Given the description of an element on the screen output the (x, y) to click on. 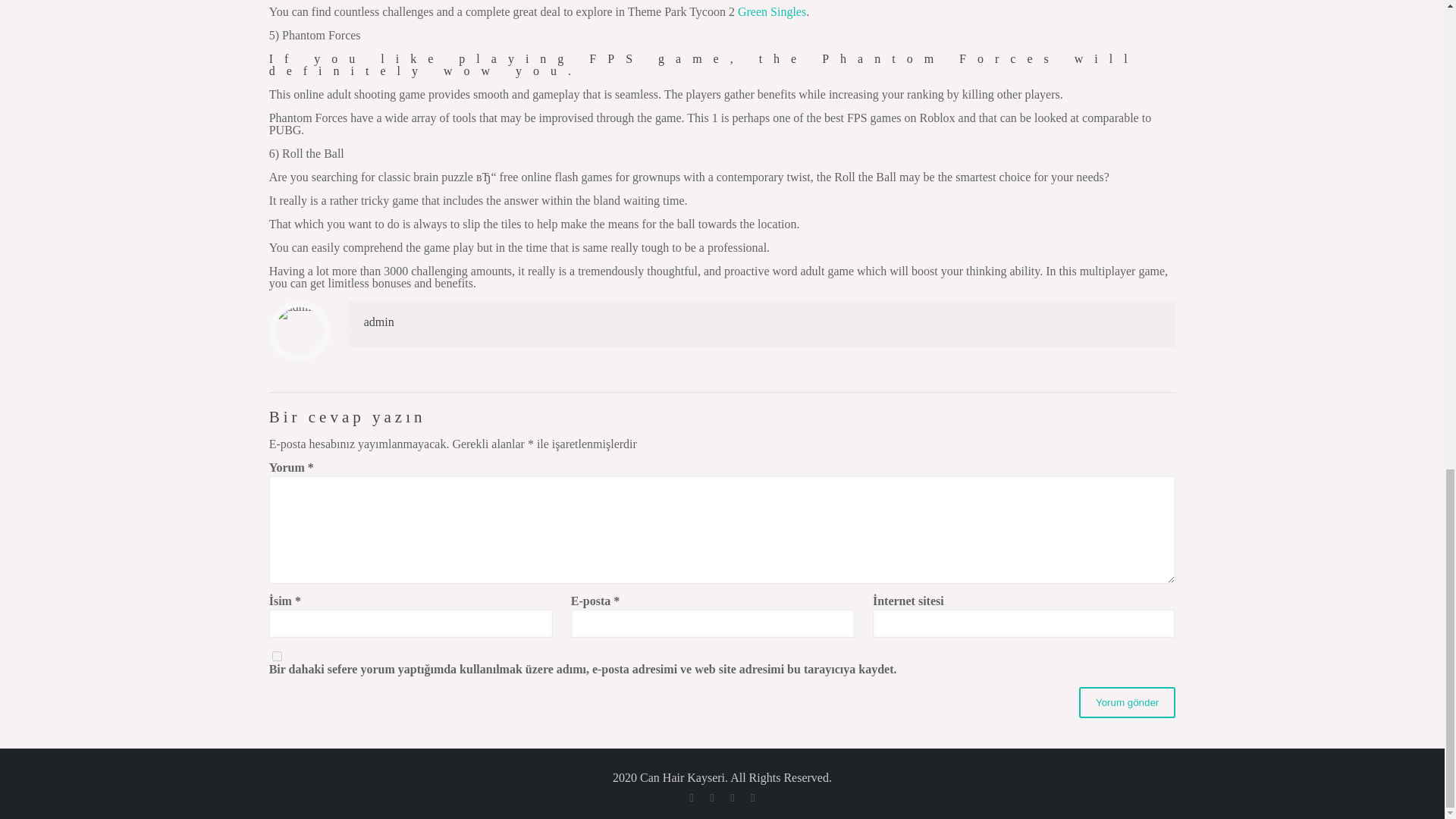
admin (379, 321)
Green Singles (772, 11)
yes (277, 655)
Twitter (731, 797)
Vimeo (752, 797)
Facebook (690, 797)
